Given the description of an element on the screen output the (x, y) to click on. 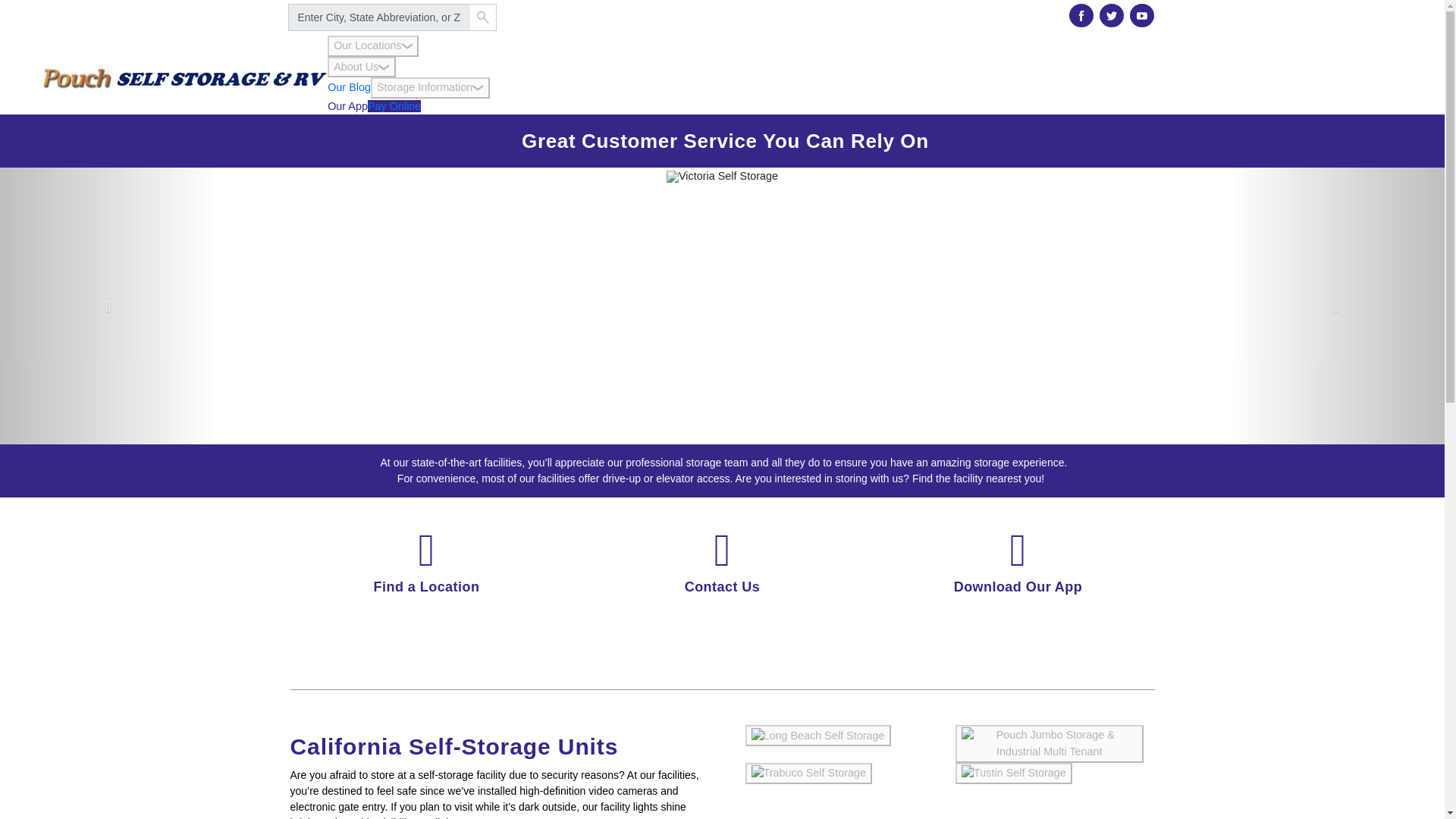
Contact Us (722, 586)
Our Locationsgroup (373, 46)
Victoria Self Storage (721, 176)
Pouch self storage and RV logo (185, 75)
Download Our App (1018, 586)
Tustin Self Storage (1012, 773)
Storage Informationgroup (430, 87)
Facebook (1080, 15)
Twitter (1111, 15)
Youtube (1142, 15)
